Given the description of an element on the screen output the (x, y) to click on. 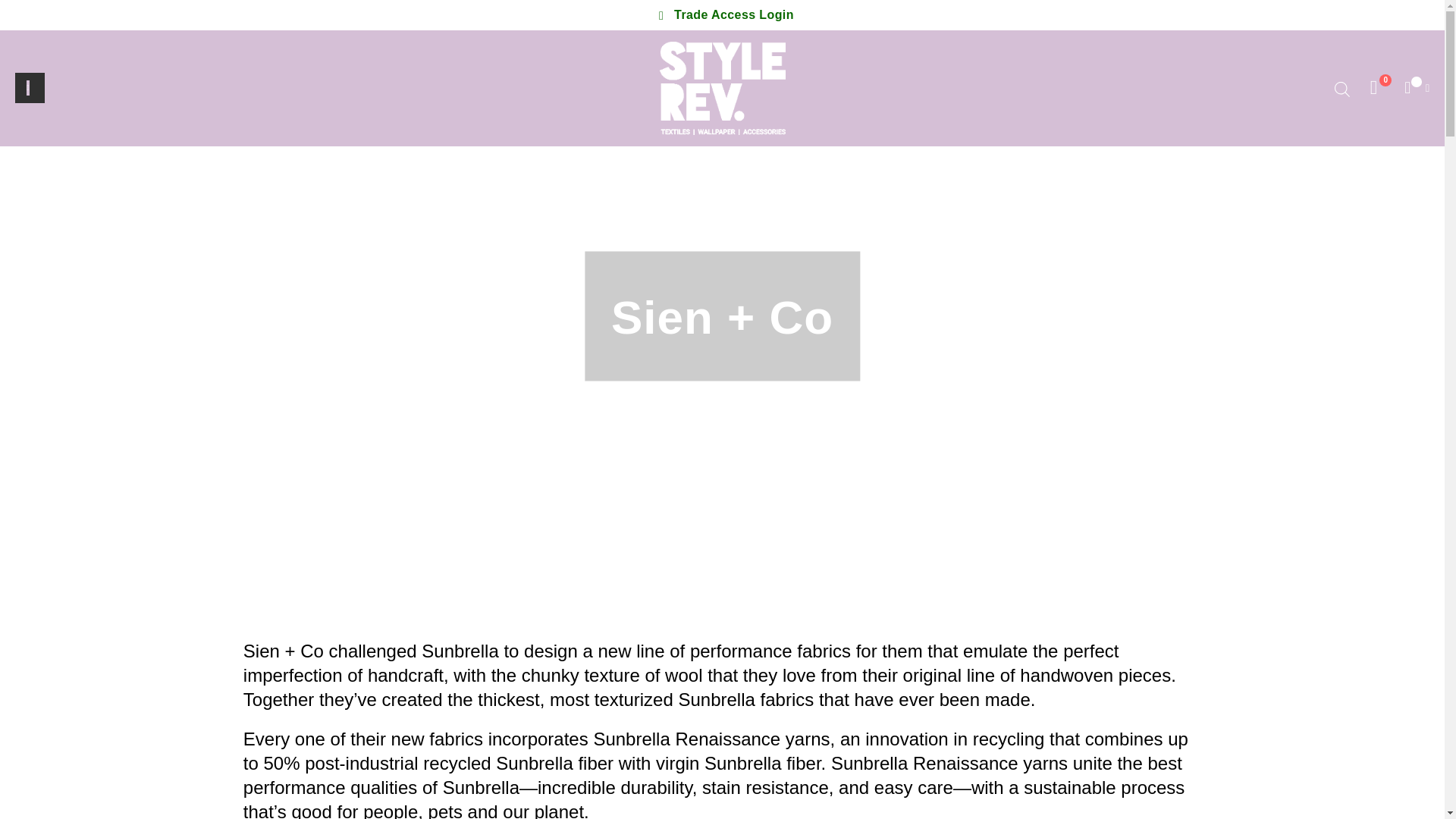
Go to Home Page (1348, 40)
HOME (1348, 40)
0 (1373, 87)
Trade Access Login (721, 14)
Wishlist (1373, 87)
